Given the description of an element on the screen output the (x, y) to click on. 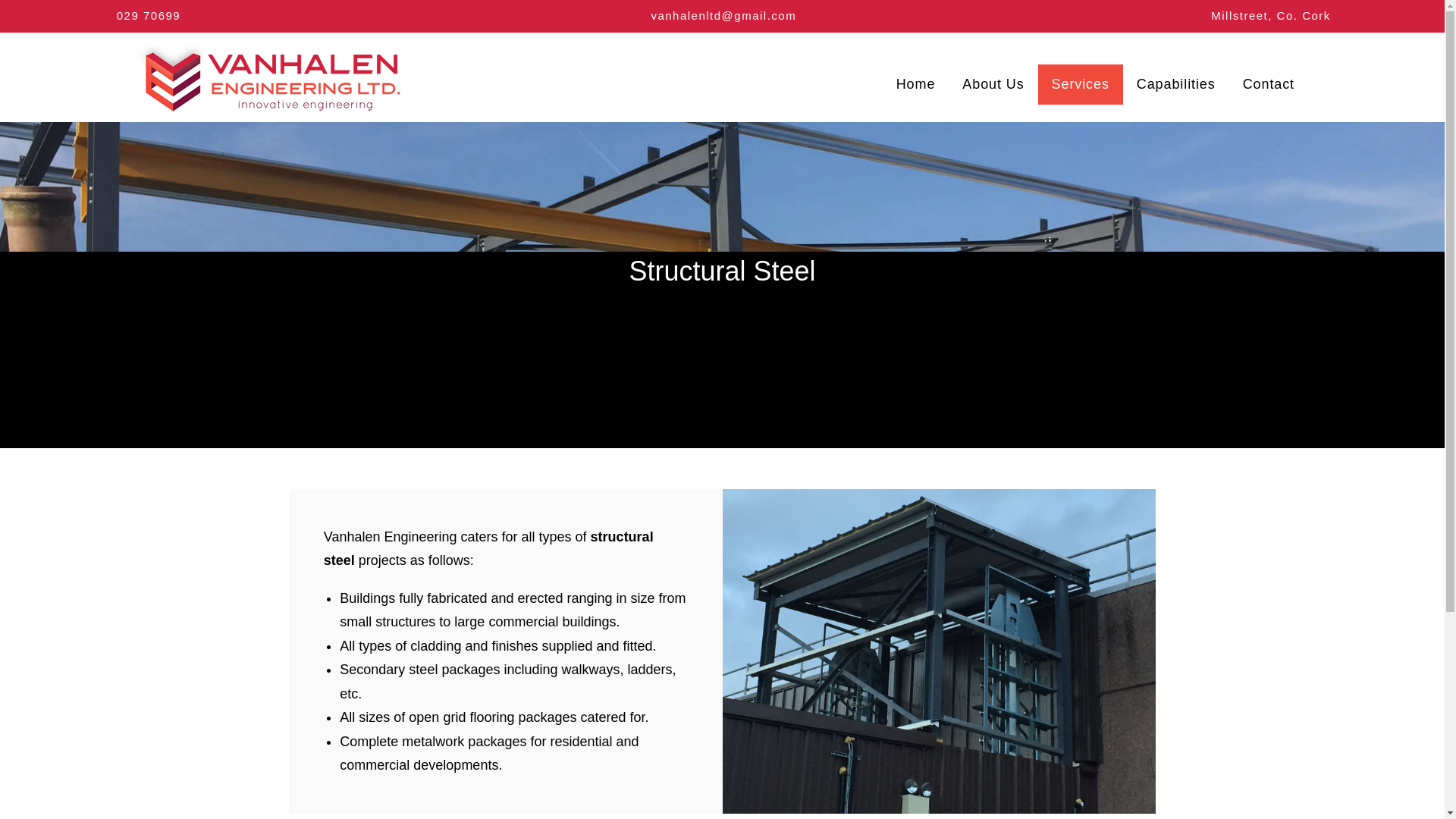
Home (915, 84)
029 70699 (146, 15)
Vanhalen Engineering Millstreet (268, 75)
About Us (992, 84)
Services (1080, 84)
Contact (1267, 84)
Capabilities (1175, 84)
